Given the description of an element on the screen output the (x, y) to click on. 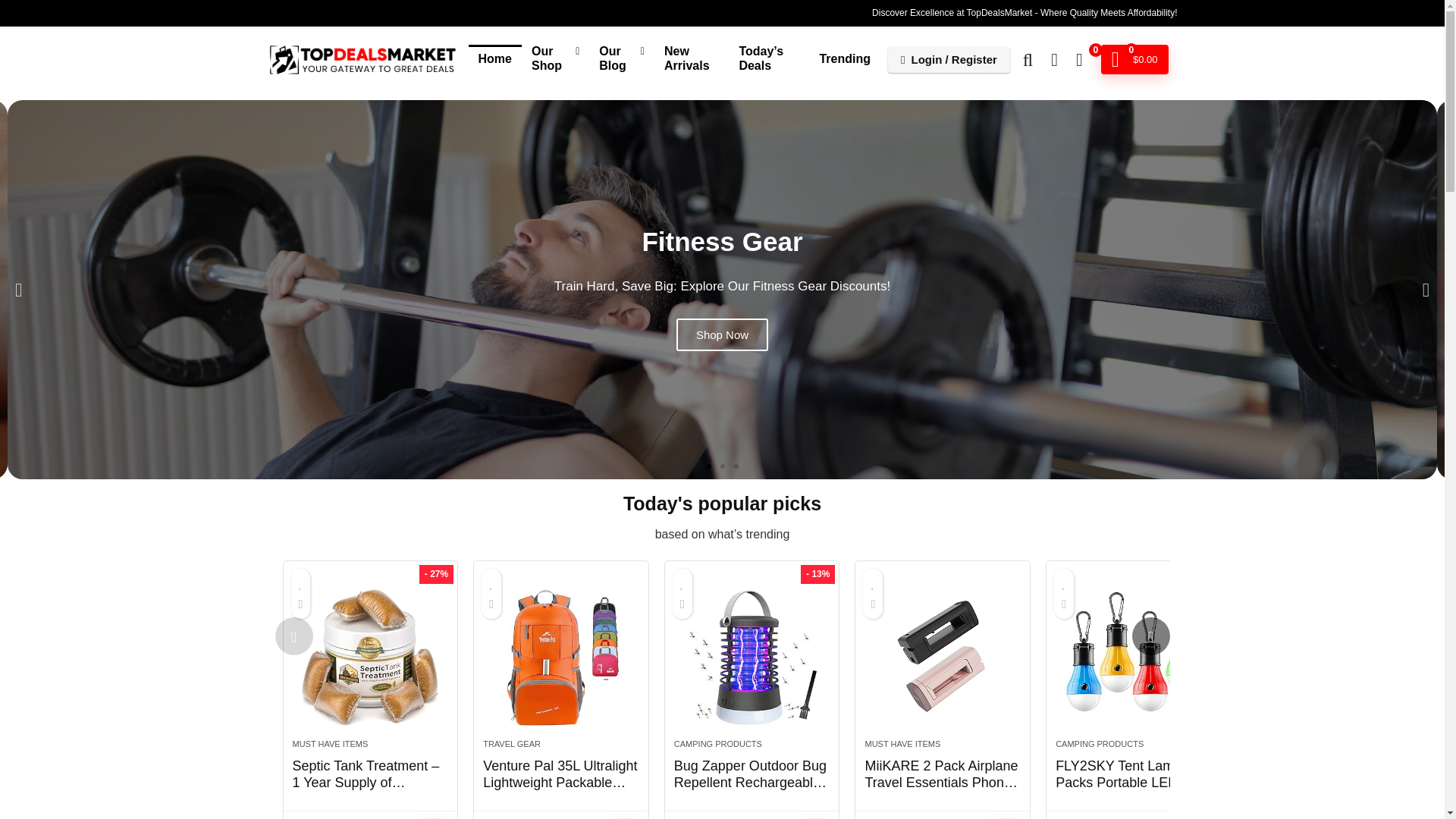
Our Shop (555, 59)
Home (494, 59)
